Given the description of an element on the screen output the (x, y) to click on. 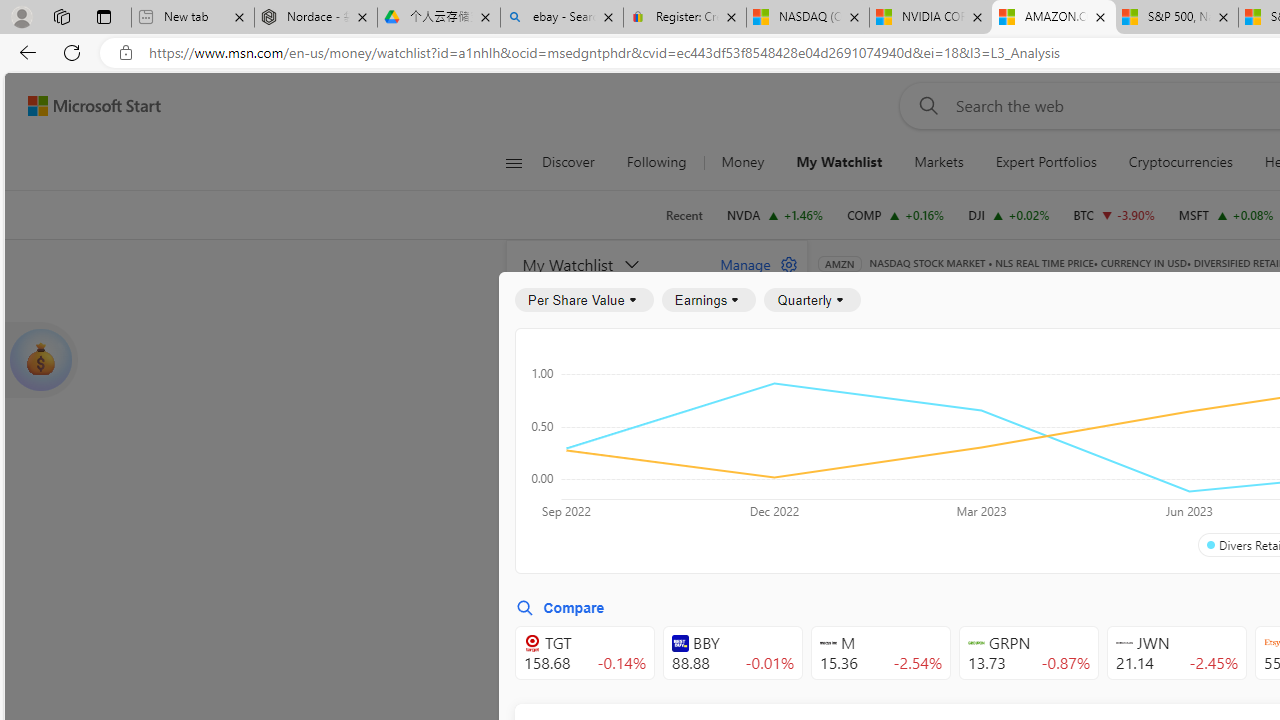
Cash Flow (1166, 391)
Back (24, 52)
Cryptocurrencies (1179, 162)
NVDA NVIDIA CORPORATION increase 128.30 +1.84 +1.46% (774, 214)
Discover (575, 162)
Earnings (708, 300)
Quarterly (812, 300)
show card (40, 359)
Register: Create a personal eBay account (684, 17)
BTC Bitcoin decrease 59,996.99 -2,337.48 -3.90% (1114, 214)
DJI DOW increase 41,250.50 +9.98 +0.02% (1009, 214)
